Given the description of an element on the screen output the (x, y) to click on. 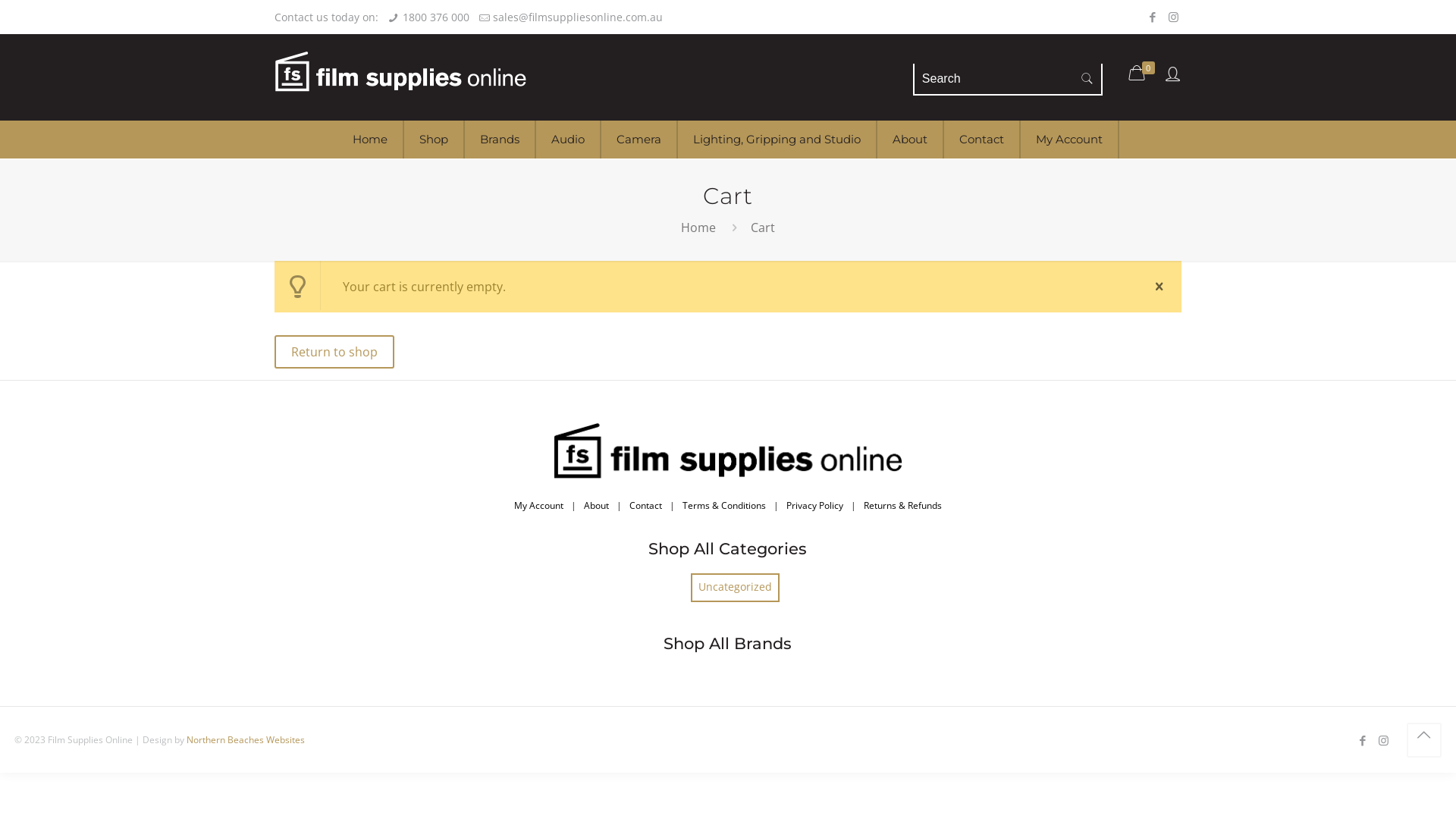
About Element type: text (909, 139)
sales@filmsuppliesonline.com.au Element type: text (577, 16)
Facebook Element type: hover (1363, 739)
My Account Element type: text (1069, 139)
About Element type: text (595, 504)
Lighting, Gripping and Studio Element type: text (777, 139)
Northern Beaches Websites Element type: text (245, 739)
Uncategorized Element type: text (734, 587)
Shop Element type: text (433, 139)
Audio Element type: text (567, 139)
Instagram Element type: hover (1173, 16)
Contact Element type: text (645, 504)
Home Element type: text (369, 139)
Terms & Conditions Element type: text (723, 504)
Facebook Element type: hover (1153, 16)
Camera Element type: text (638, 139)
My Account Element type: text (538, 504)
0 Element type: text (1143, 72)
Contact Element type: text (981, 139)
Privacy Policy Element type: text (814, 504)
Returns & Refunds Element type: text (902, 504)
Return to shop Element type: text (334, 351)
Brands Element type: text (499, 139)
1800 376 000 Element type: text (435, 16)
Film Supplies Online Element type: hover (400, 77)
Home Element type: text (697, 227)
Instagram Element type: hover (1383, 739)
